Given the description of an element on the screen output the (x, y) to click on. 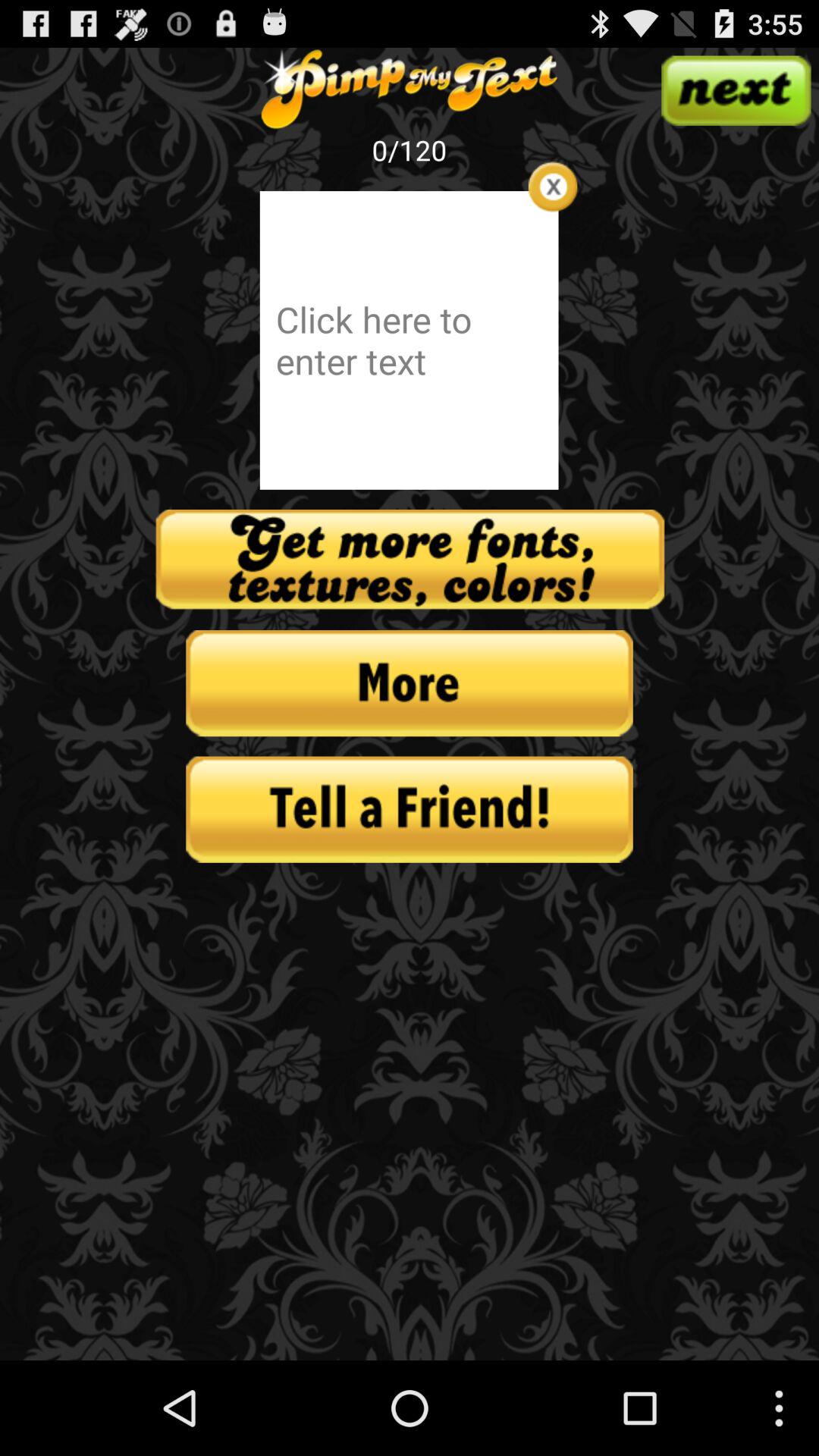
go next (736, 90)
